Given the description of an element on the screen output the (x, y) to click on. 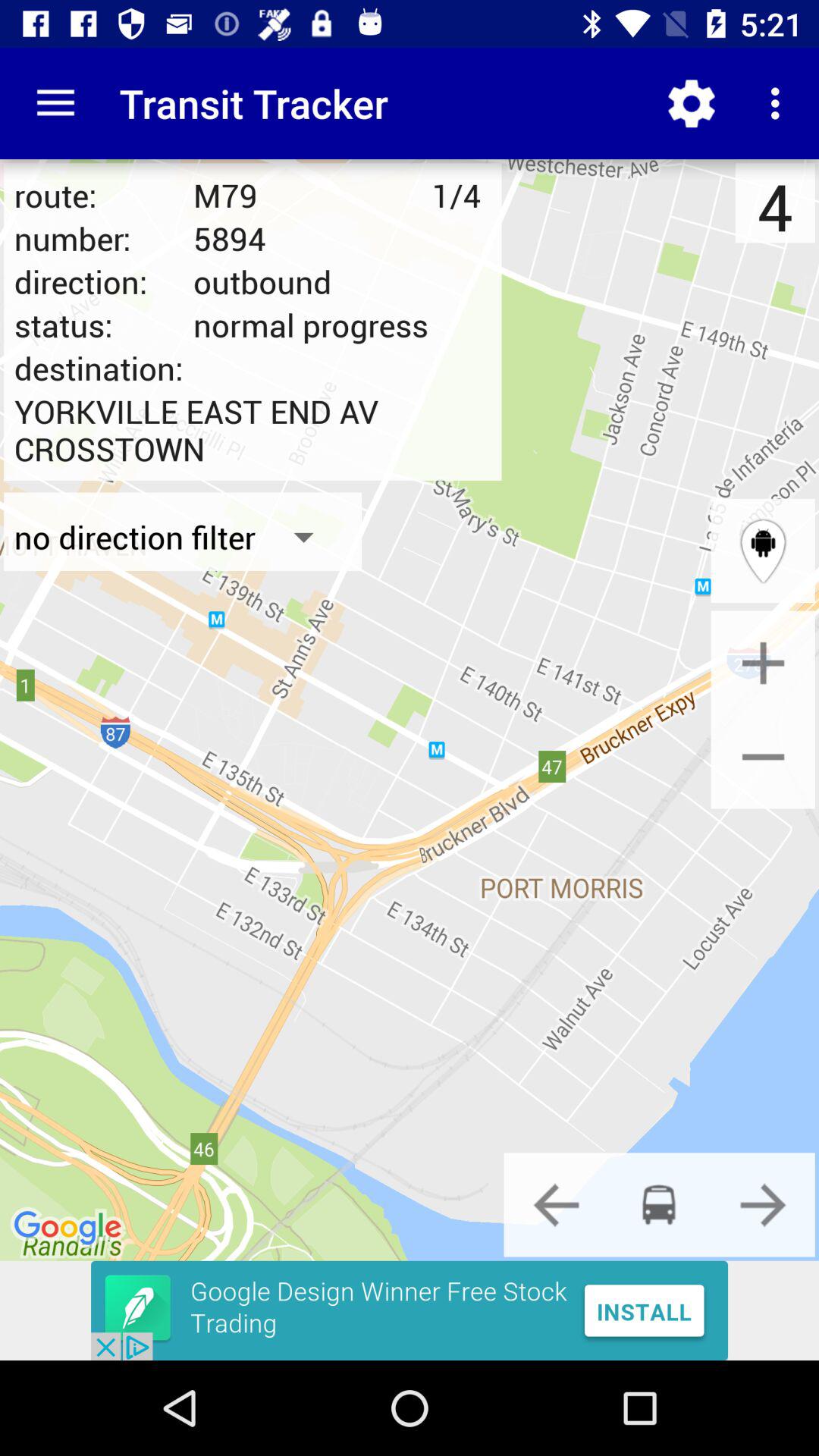
zoom out (762, 756)
